Given the description of an element on the screen output the (x, y) to click on. 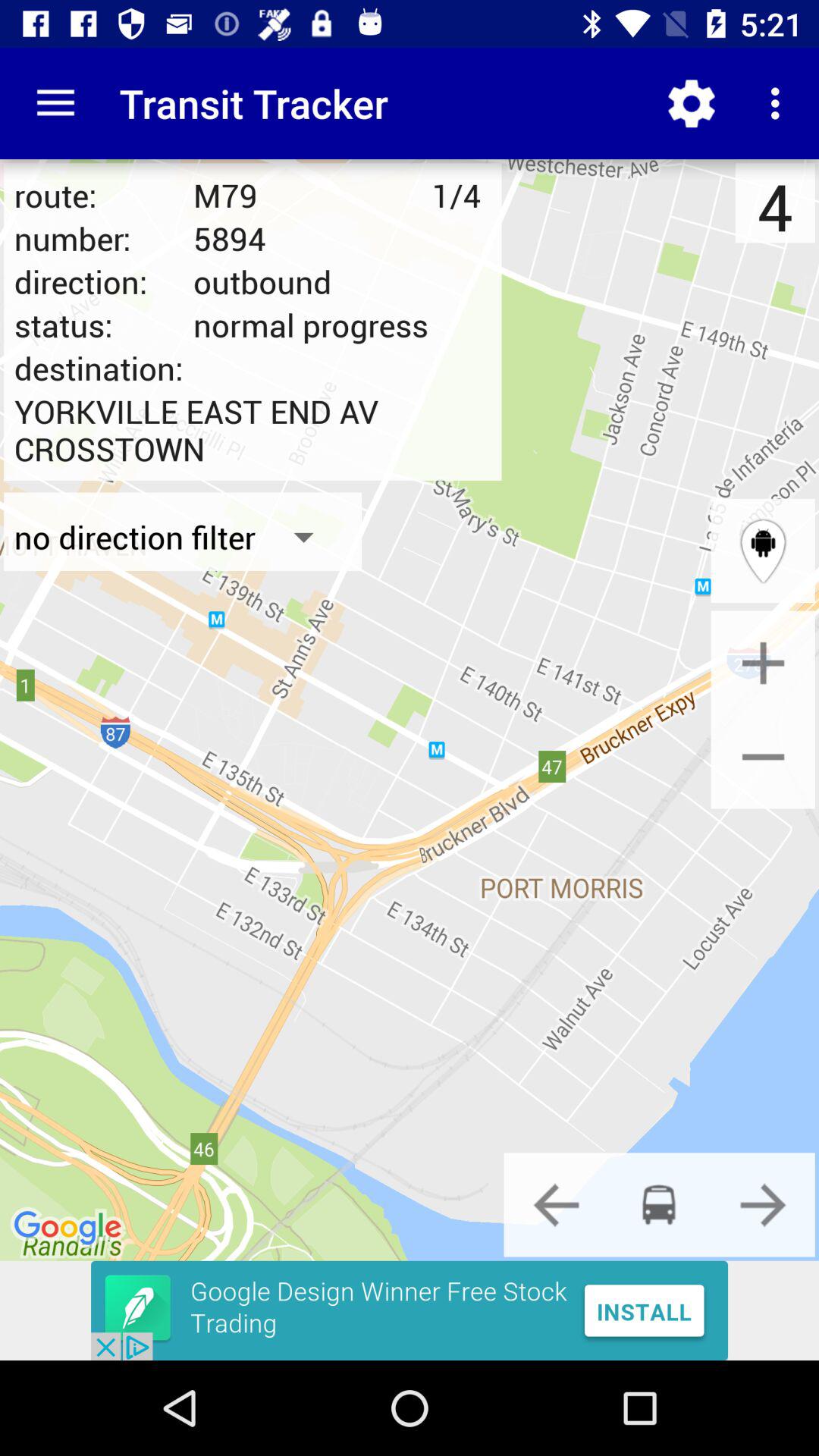
zoom out (762, 756)
